Given the description of an element on the screen output the (x, y) to click on. 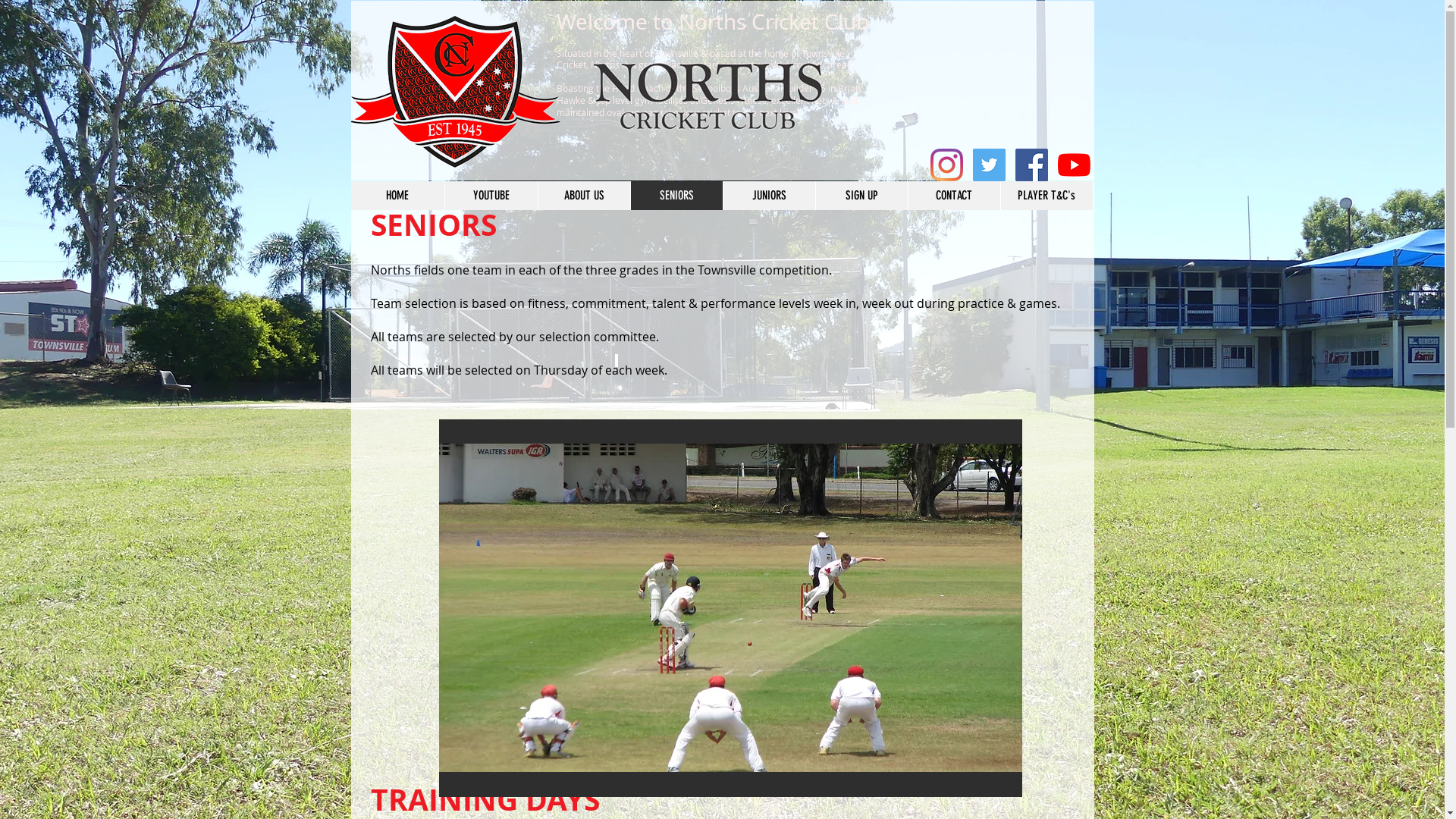
ABOUT US Element type: text (582, 195)
SENIORS Element type: text (675, 195)
CONTACT Element type: text (952, 195)
YOUTUBE Element type: text (490, 195)
SIGN UP Element type: text (860, 195)
JUNIORS Element type: text (767, 195)
HOME Element type: text (396, 195)
